Given the description of an element on the screen output the (x, y) to click on. 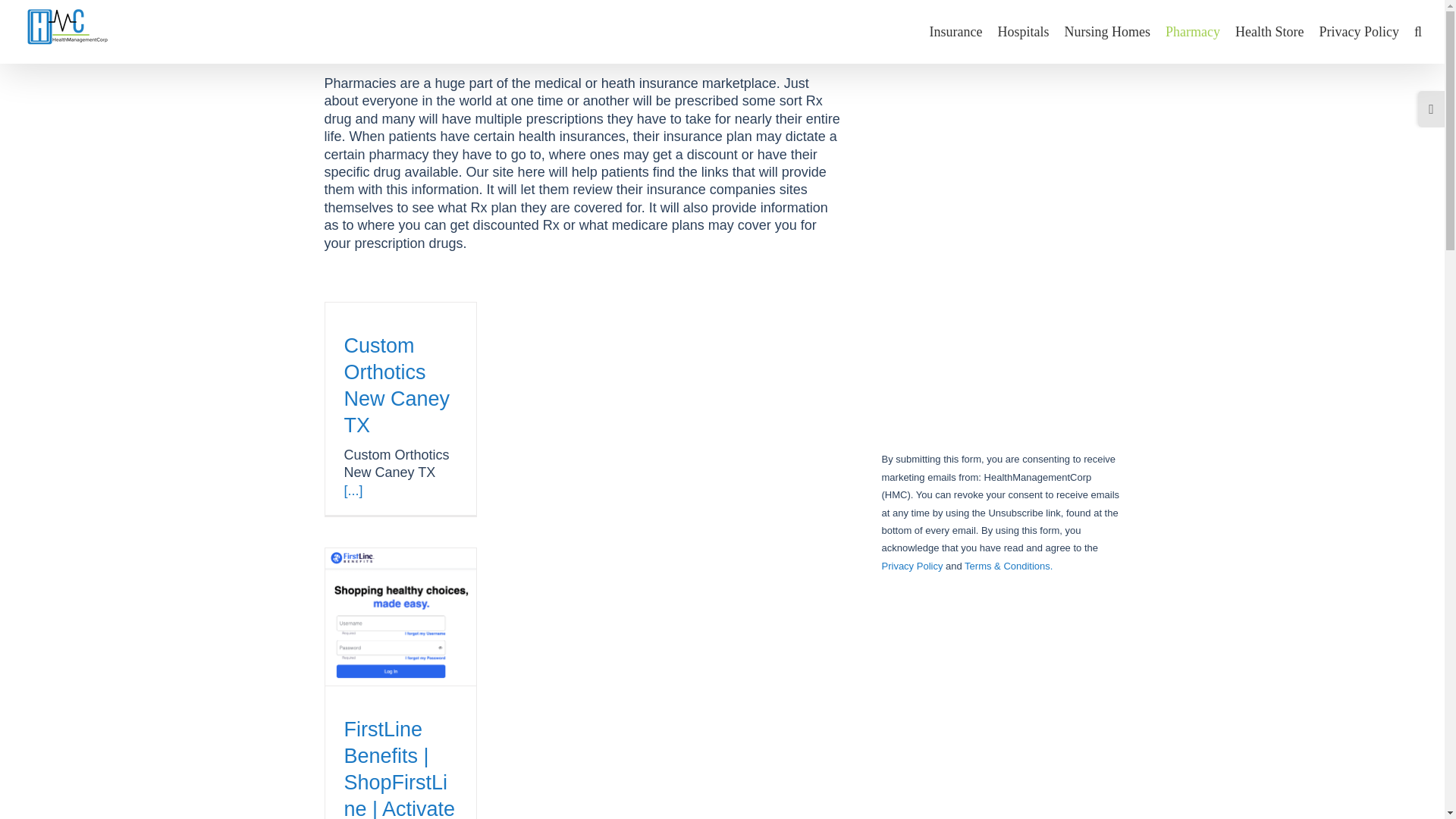
Privacy Policy (1359, 31)
Nursing Homes (1107, 31)
Custom Orthotics New Caney TX (396, 385)
Health Store (1268, 31)
Nursing Homes (1107, 31)
Privacy Policy (911, 565)
